Given the description of an element on the screen output the (x, y) to click on. 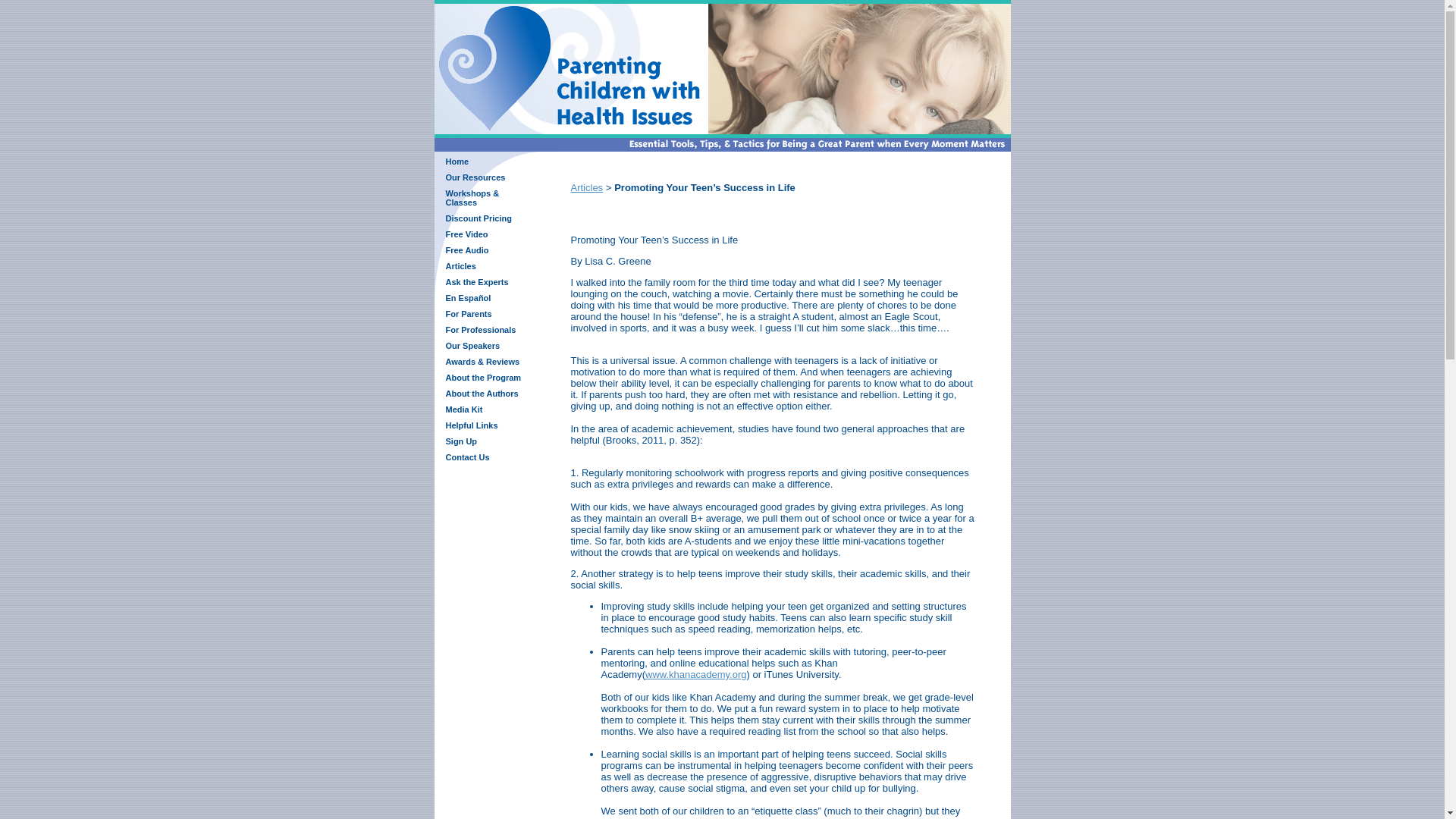
Our Resources (475, 176)
For Professionals (480, 329)
Articles (460, 266)
Articles (586, 187)
For Parents (468, 313)
Media Kit (464, 409)
Our Speakers (472, 345)
Discount Pricing (478, 217)
Contact Us (467, 456)
About the Authors (481, 393)
www.khanacademy.org (695, 674)
Free Audio (467, 249)
Ask the Experts (476, 281)
Free Video (466, 234)
About the Program (483, 377)
